Given the description of an element on the screen output the (x, y) to click on. 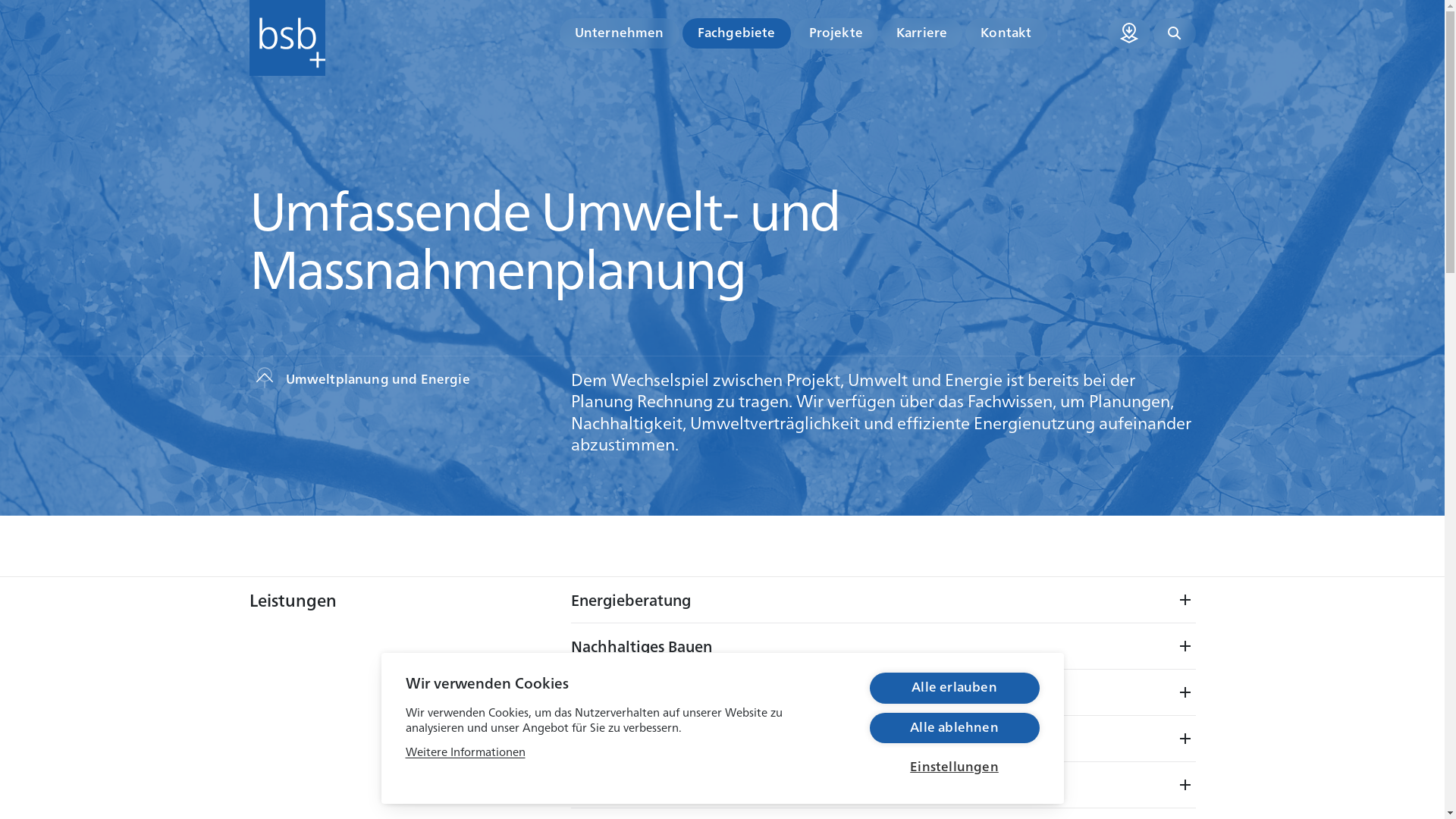
Einstellungen Element type: text (953, 765)
Unternehmen Element type: text (619, 33)
Fachgebiete Element type: text (736, 33)
Der Label-Dschungel - Minergie, ECO, 2000 WG, SNBS Element type: text (882, 692)
Karriere Element type: text (921, 33)
Energieberatung Element type: text (882, 599)
Projekte Element type: text (835, 33)
Kontakt Element type: text (1005, 33)
Weitere Informationen Element type: text (464, 751)
Nachhaltiges Bauen Element type: text (882, 645)
Bodenkundliche Baubegleitung und Umweltbaubegleitung Element type: text (882, 738)
Alle erlauben Element type: text (953, 687)
Alle ablehnen Element type: text (953, 727)
